Given the description of an element on the screen output the (x, y) to click on. 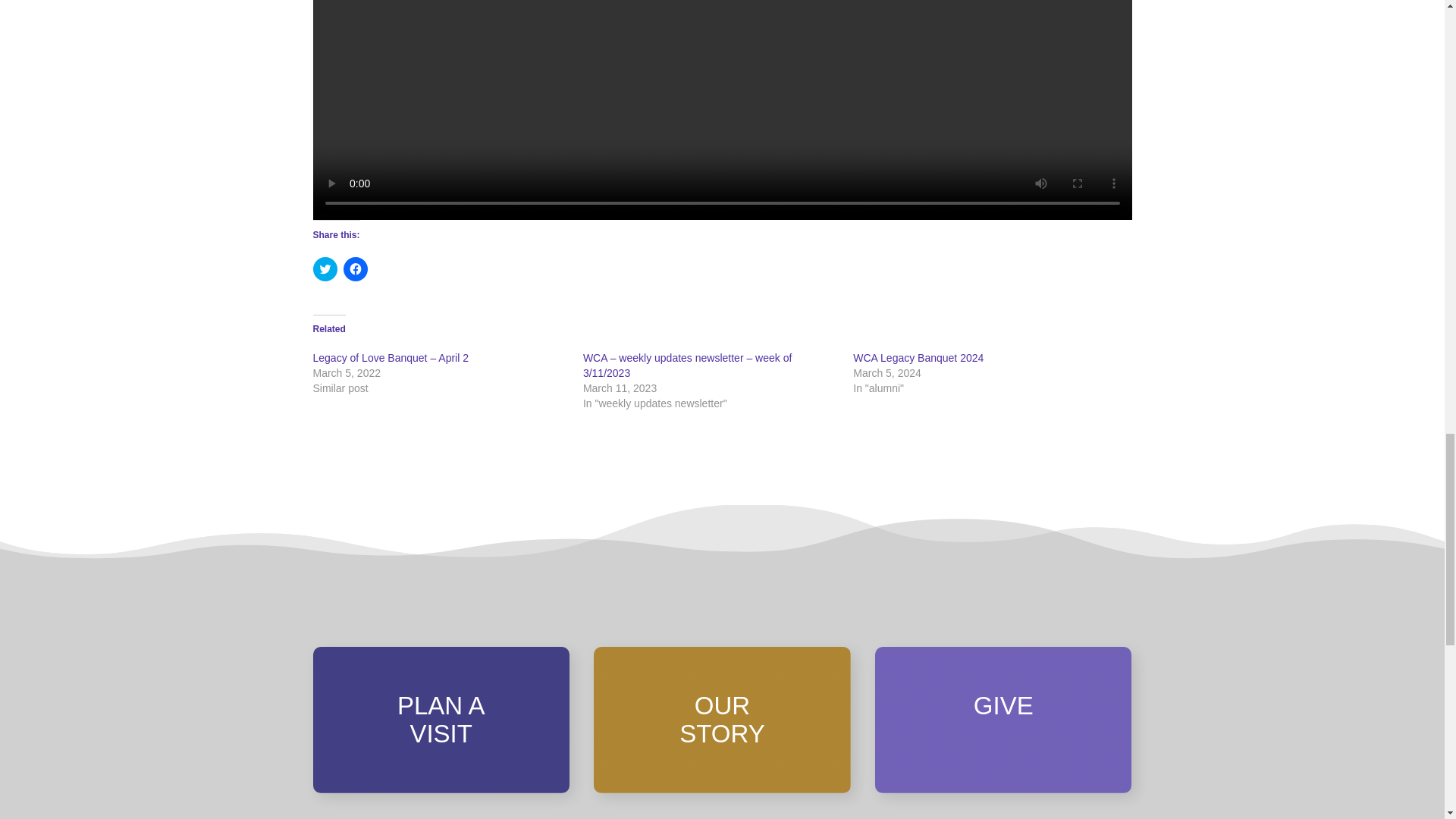
WCA Legacy Banquet 2024 (918, 357)
Click to share on Facebook (354, 269)
Click to share on Twitter (324, 269)
